Given the description of an element on the screen output the (x, y) to click on. 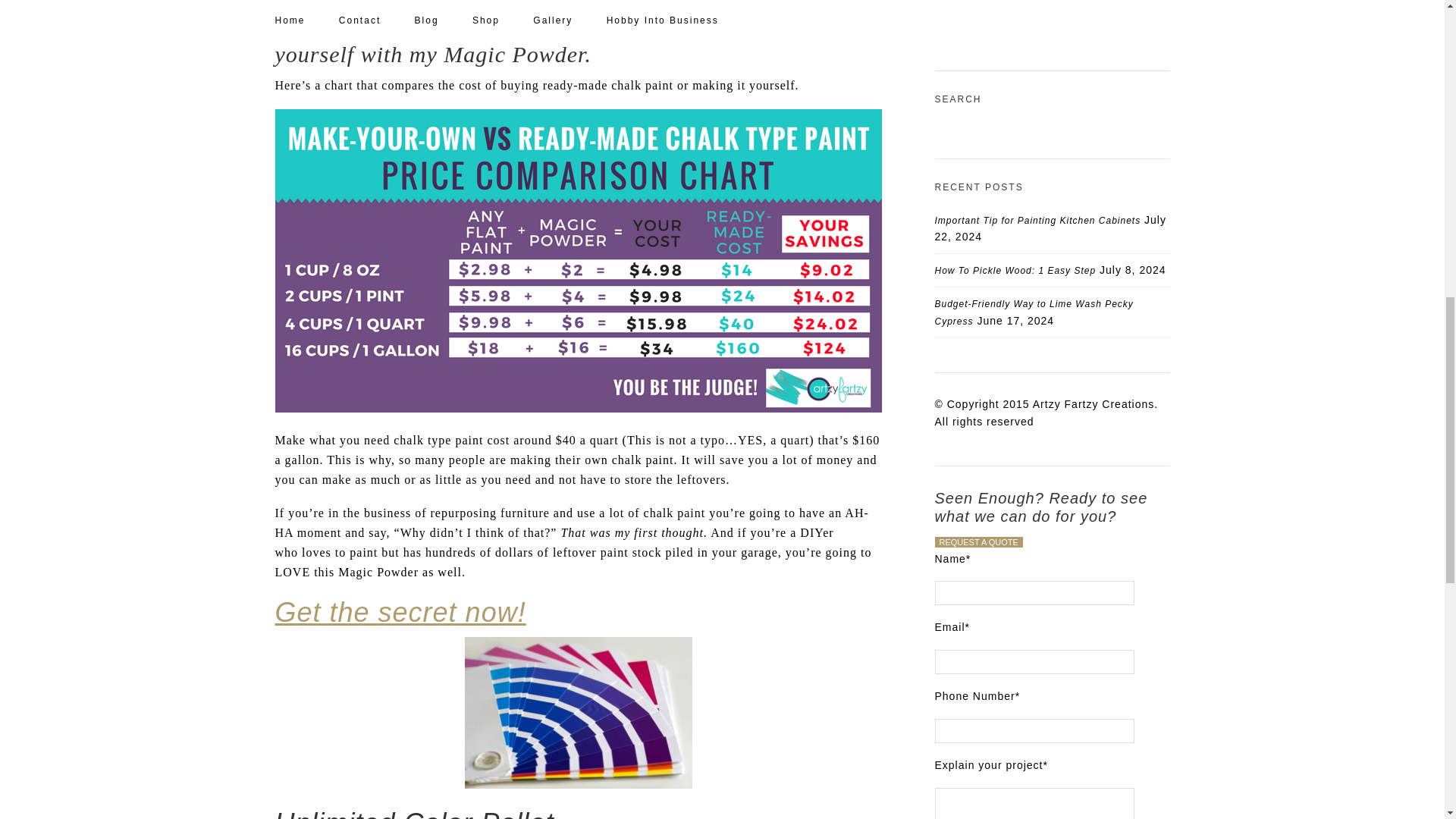
REQUEST A QUOTE (978, 542)
Budget-Friendly Way to Lime Wash Pecky Cypress (1033, 312)
Get the secret now! (400, 612)
Our Privacy Policy (978, 27)
How To Pickle Wood: 1 Easy Step (1015, 270)
Important Tip for Painting Kitchen Cabinets (1037, 220)
